Given the description of an element on the screen output the (x, y) to click on. 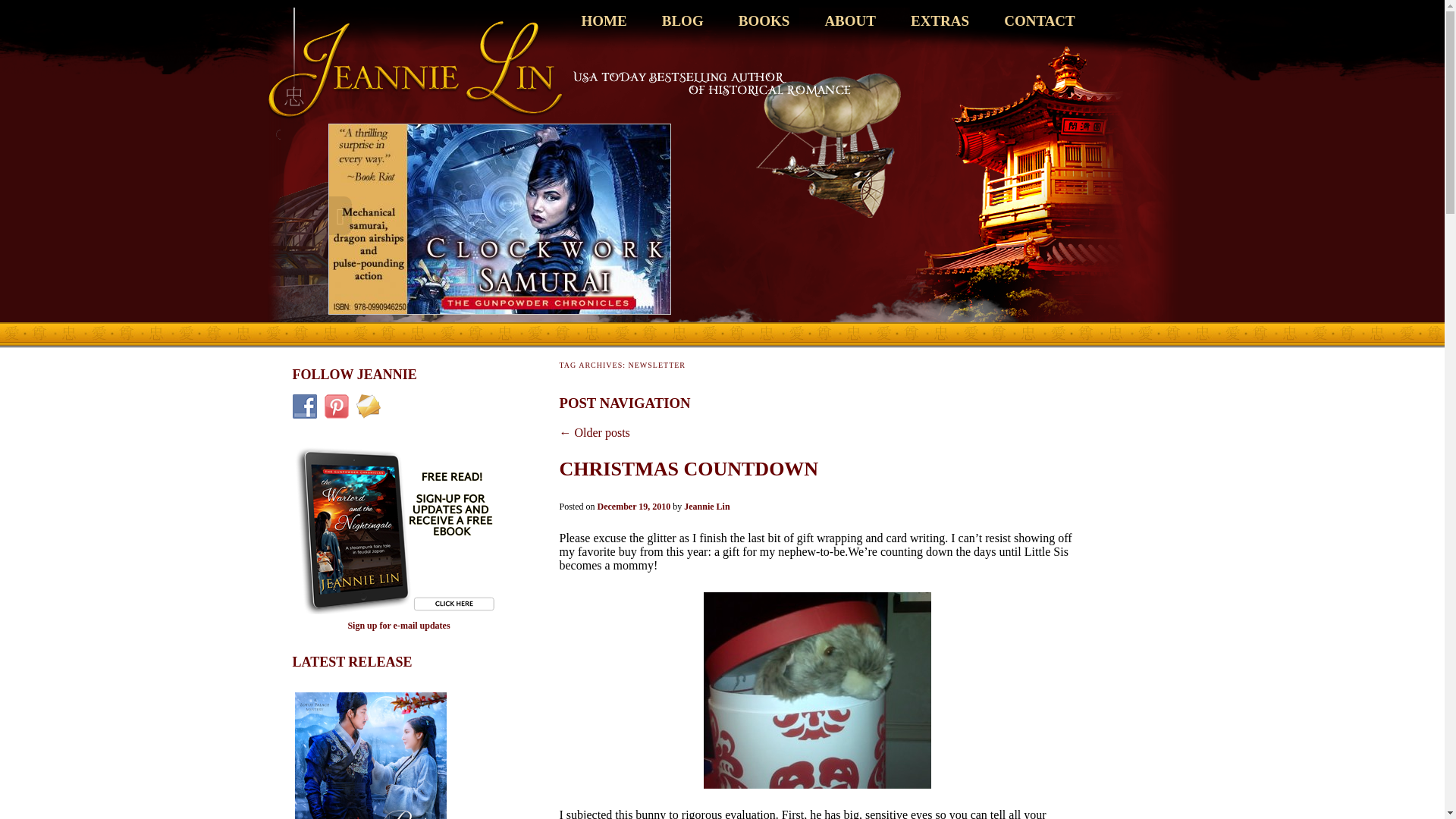
CONTACT (1040, 21)
 E-mail (368, 405)
Permalink to Christmas Countdown (688, 468)
EXTRAS (940, 21)
 Pinterest (336, 405)
HOME (604, 21)
11:17 pm (633, 506)
BLOG (682, 21)
 Facebook (304, 405)
View all posts by Jeannie Lin (706, 506)
Sign up for e-mail updates (398, 624)
BOOKS (764, 21)
ABOUT (849, 21)
